Given the description of an element on the screen output the (x, y) to click on. 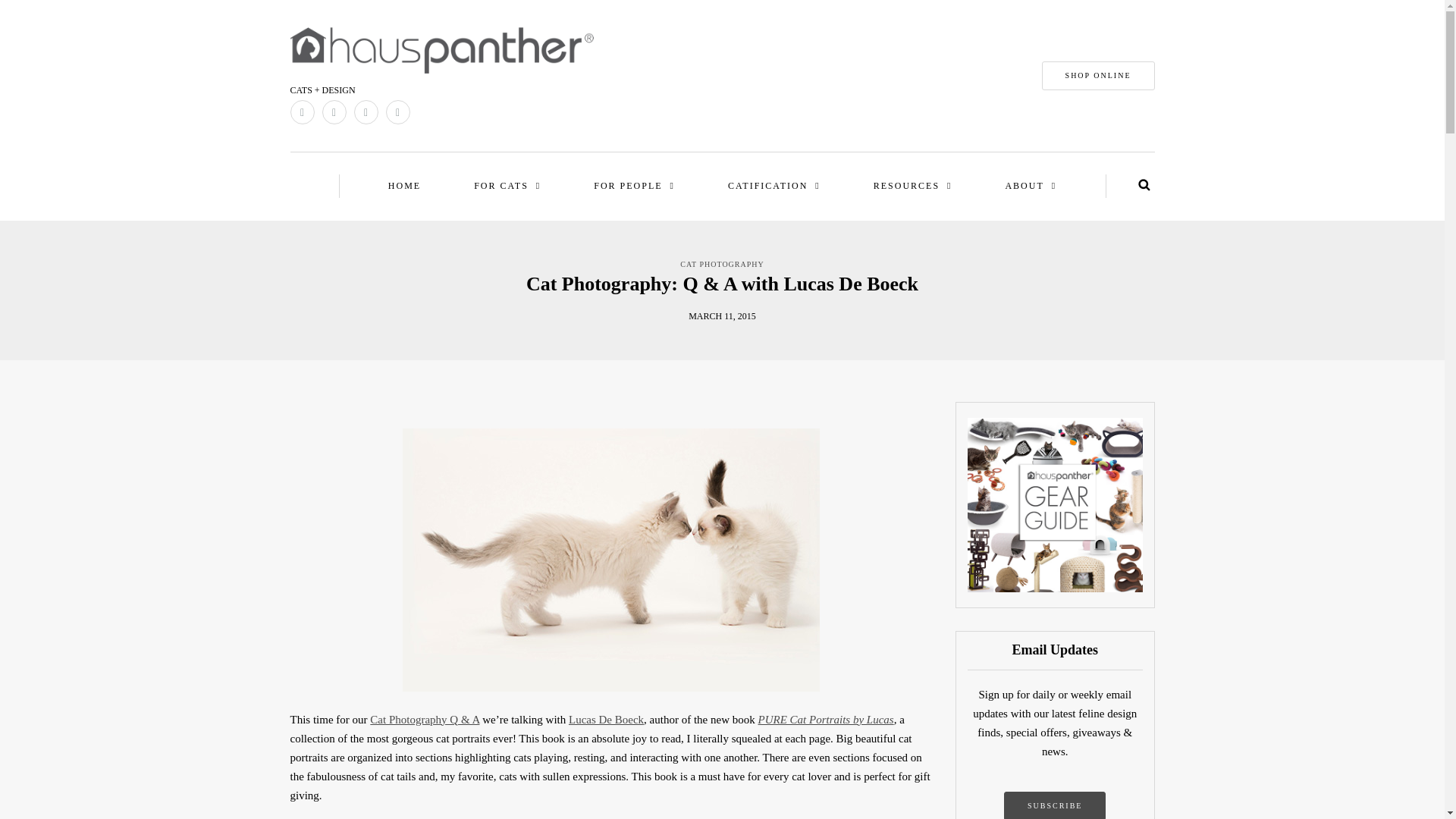
CATIFICATION (773, 186)
RESOURCES (912, 186)
HOME (404, 186)
SHOP ONLINE (1098, 75)
FOR PEOPLE (633, 186)
FOR CATS (507, 186)
ABOUT (1030, 186)
